Given the description of an element on the screen output the (x, y) to click on. 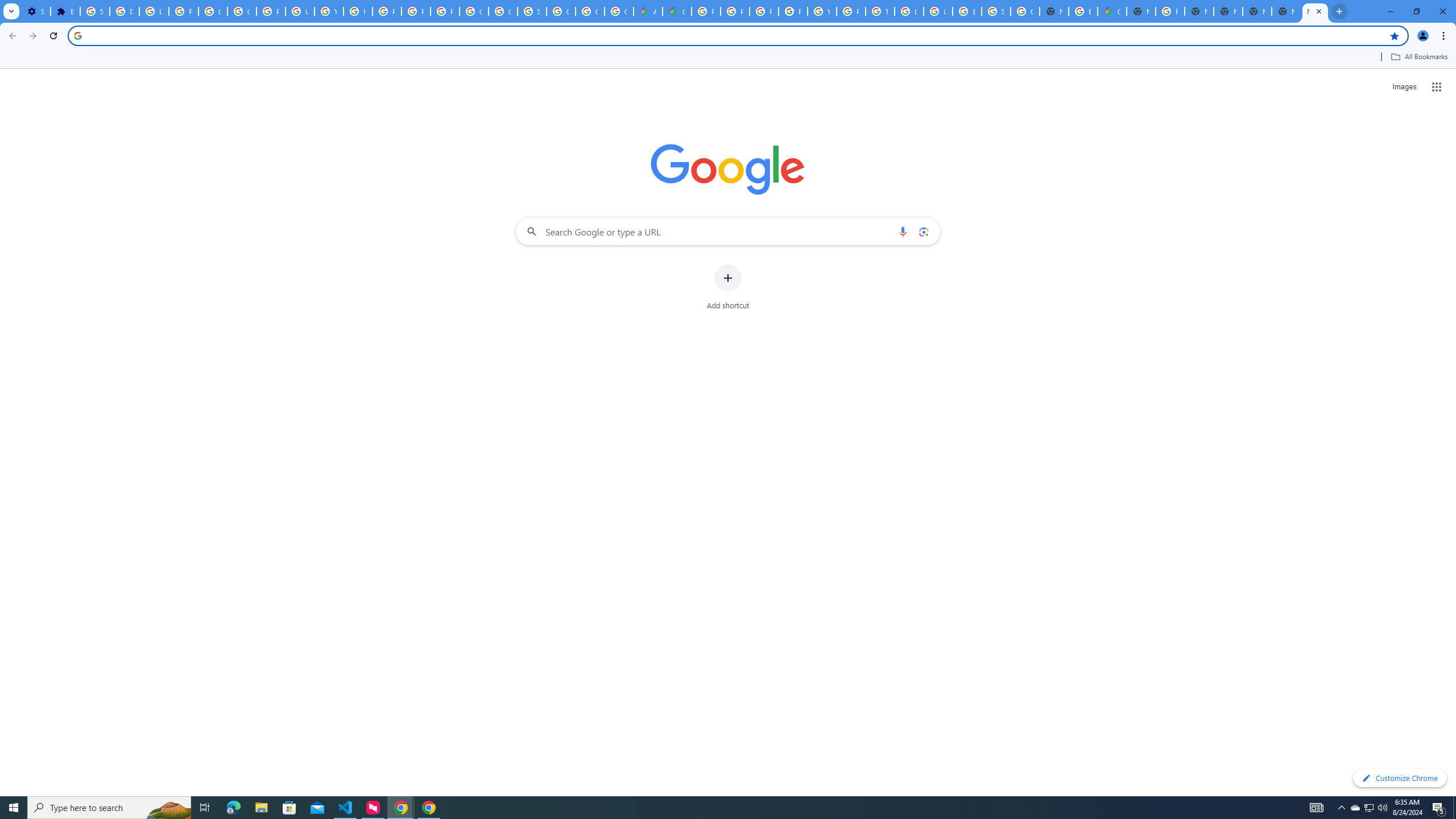
Search by image (922, 230)
New Tab (1315, 11)
Tips & tricks for Chrome - Google Chrome Help (879, 11)
Privacy Help Center - Policies Help (386, 11)
Policy Accountability and Transparency - Transparency Center (705, 11)
Google Account Help (242, 11)
